Given the description of an element on the screen output the (x, y) to click on. 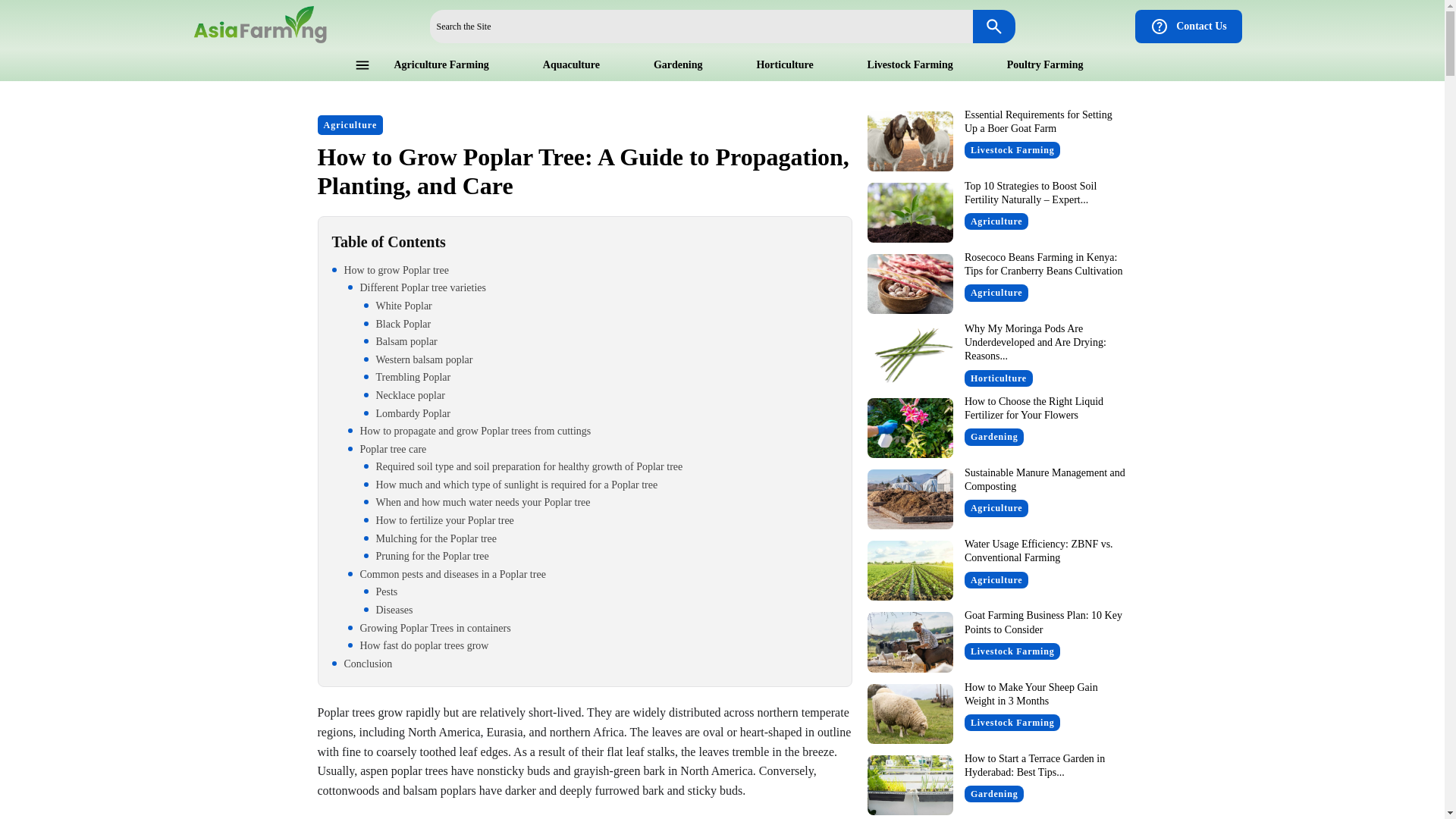
White Poplar (601, 305)
Poultry Farming (1045, 64)
Lombardy Poplar (601, 413)
Gardening (678, 64)
Horticulture (783, 64)
How to grow Poplar tree (584, 270)
Trembling Poplar (601, 377)
Aquaculture (571, 64)
Contact Us (1188, 26)
Agriculture Farming (441, 64)
